Given the description of an element on the screen output the (x, y) to click on. 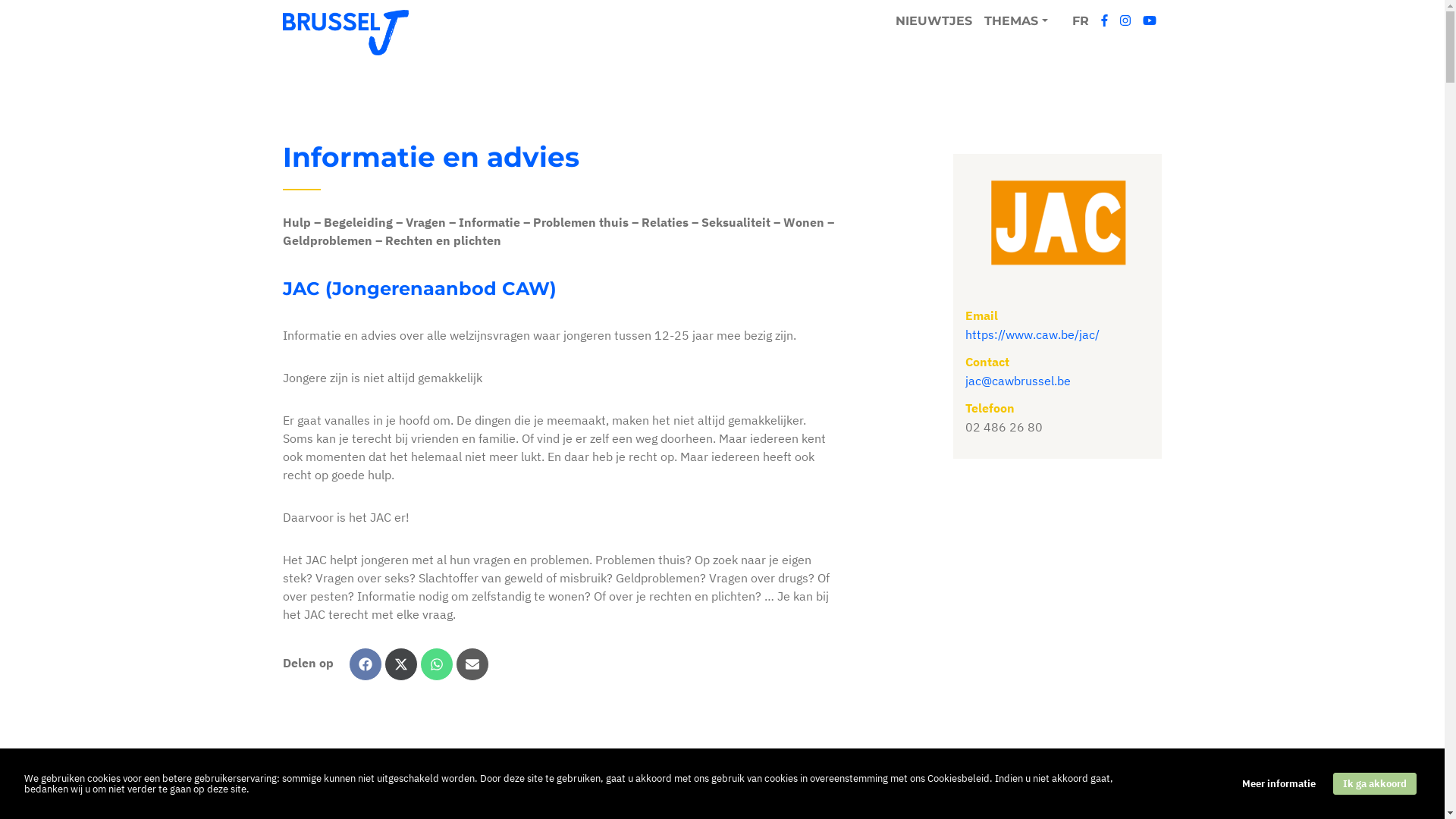
THEMAS Element type: text (1015, 21)
Share on Email Element type: text (471, 663)
Ik ga akkoord Element type: text (1374, 783)
NIEUWTJES Element type: text (933, 21)
Share on X (Twitter) Element type: text (400, 663)
FR Element type: text (1080, 21)
SEARCH Element type: text (744, 430)
Share on Facebook Element type: text (365, 663)
Share on WhatsApp Element type: text (436, 663)
jac@cawbrussel.be Element type: text (1017, 380)
Meer informatie Element type: text (1278, 783)
https://www.caw.be/jac/ Element type: text (1032, 334)
